Given the description of an element on the screen output the (x, y) to click on. 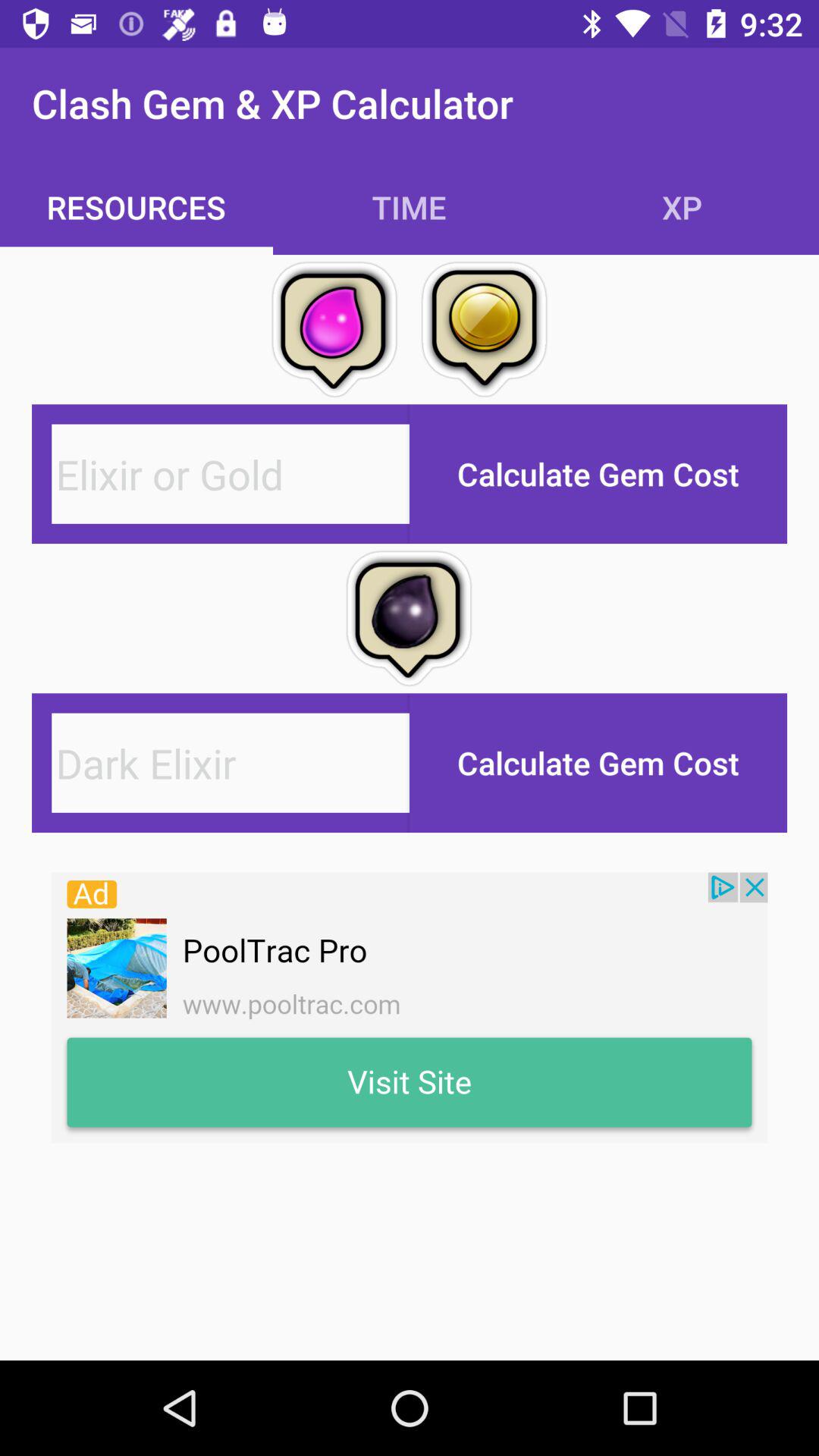
advertisement (409, 1007)
